Given the description of an element on the screen output the (x, y) to click on. 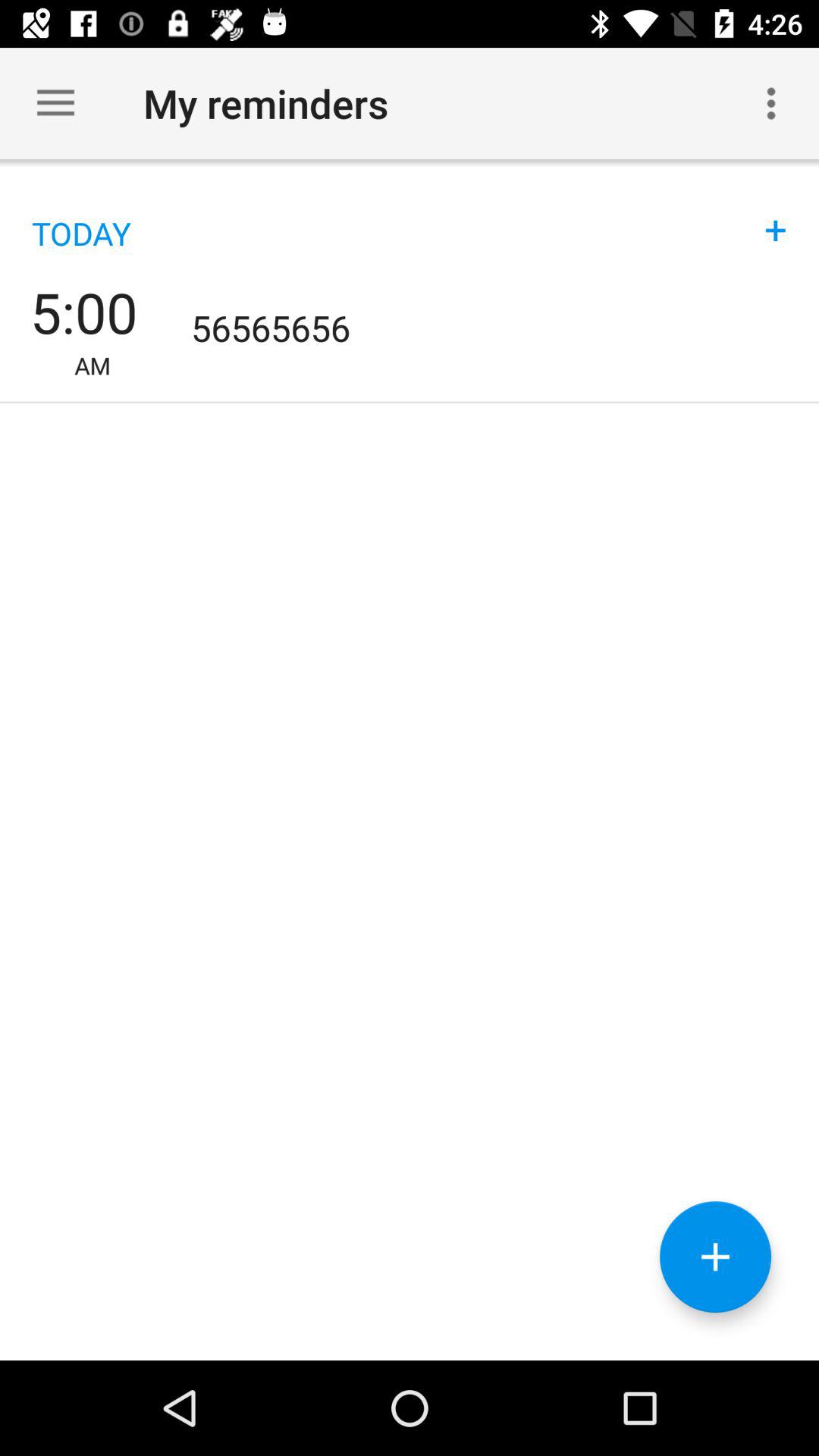
press icon at the bottom right corner (715, 1256)
